Given the description of an element on the screen output the (x, y) to click on. 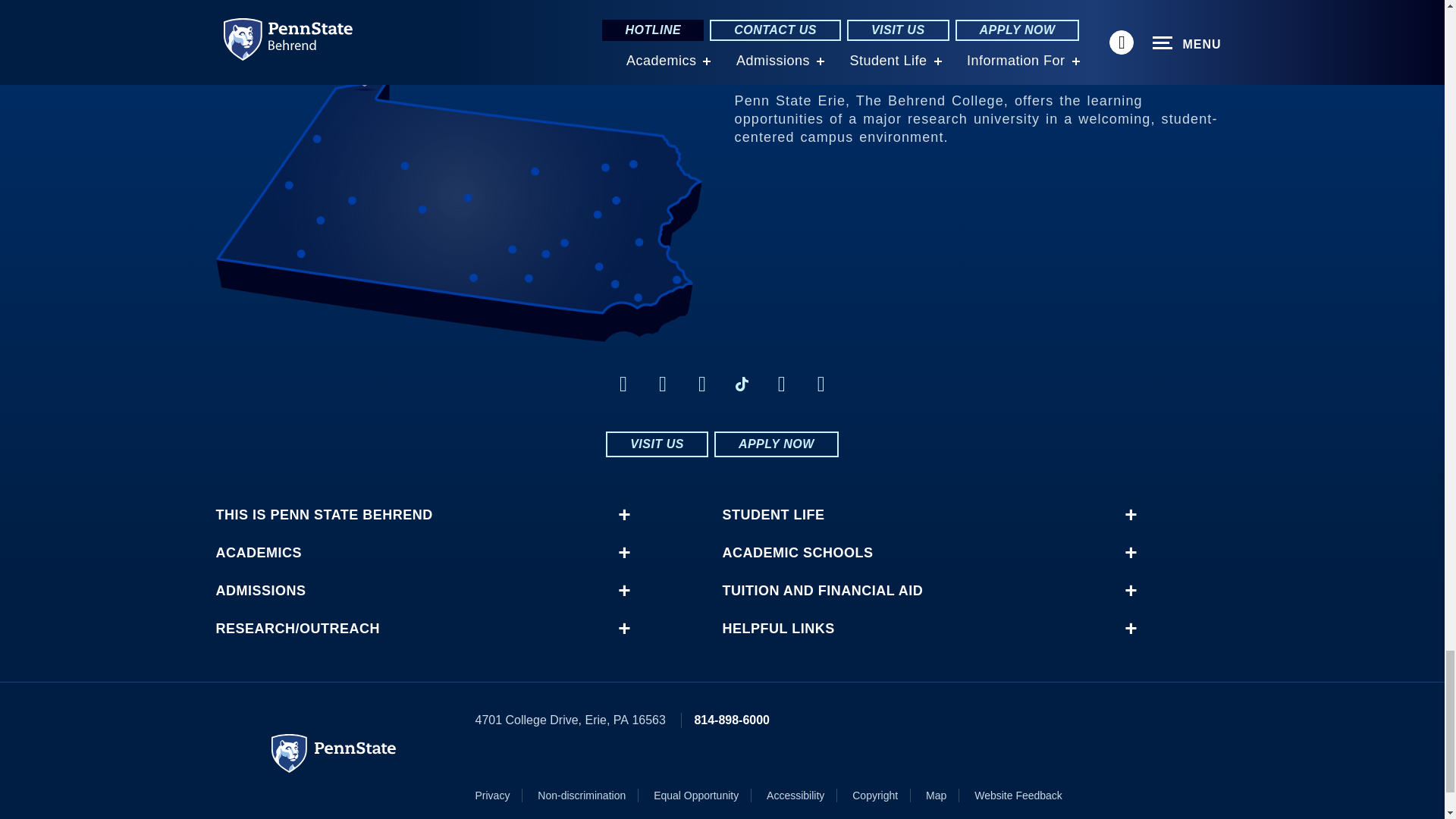
YouTube (820, 383)
Instagram (662, 383)
Penn State University (333, 753)
LinkedIn (702, 383)
Facebook (622, 383)
TikTok (741, 383)
